Given the description of an element on the screen output the (x, y) to click on. 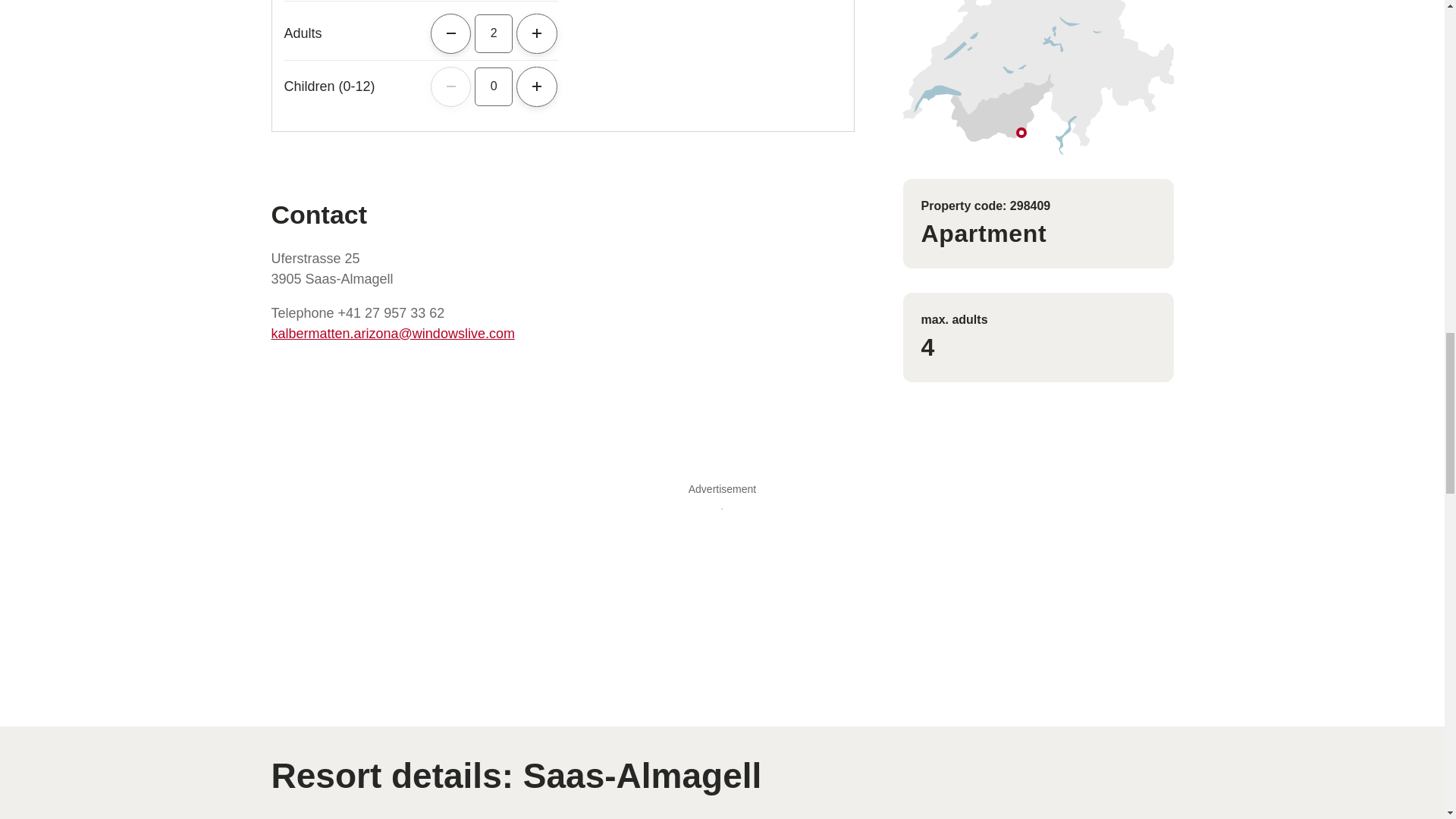
0 (493, 86)
2 (493, 33)
